Given the description of an element on the screen output the (x, y) to click on. 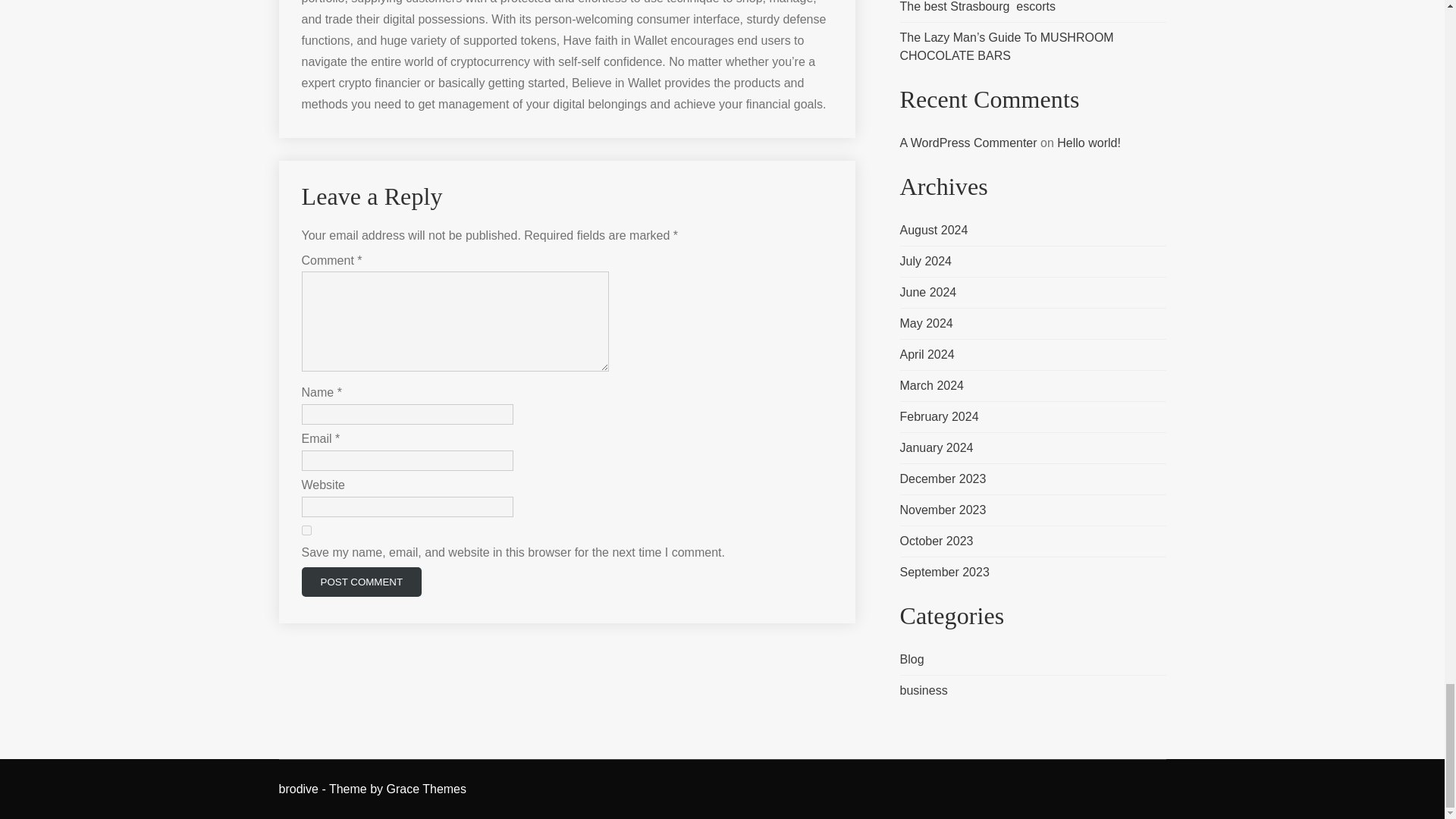
yes (306, 530)
Post Comment (361, 582)
Post Comment (361, 582)
